Given the description of an element on the screen output the (x, y) to click on. 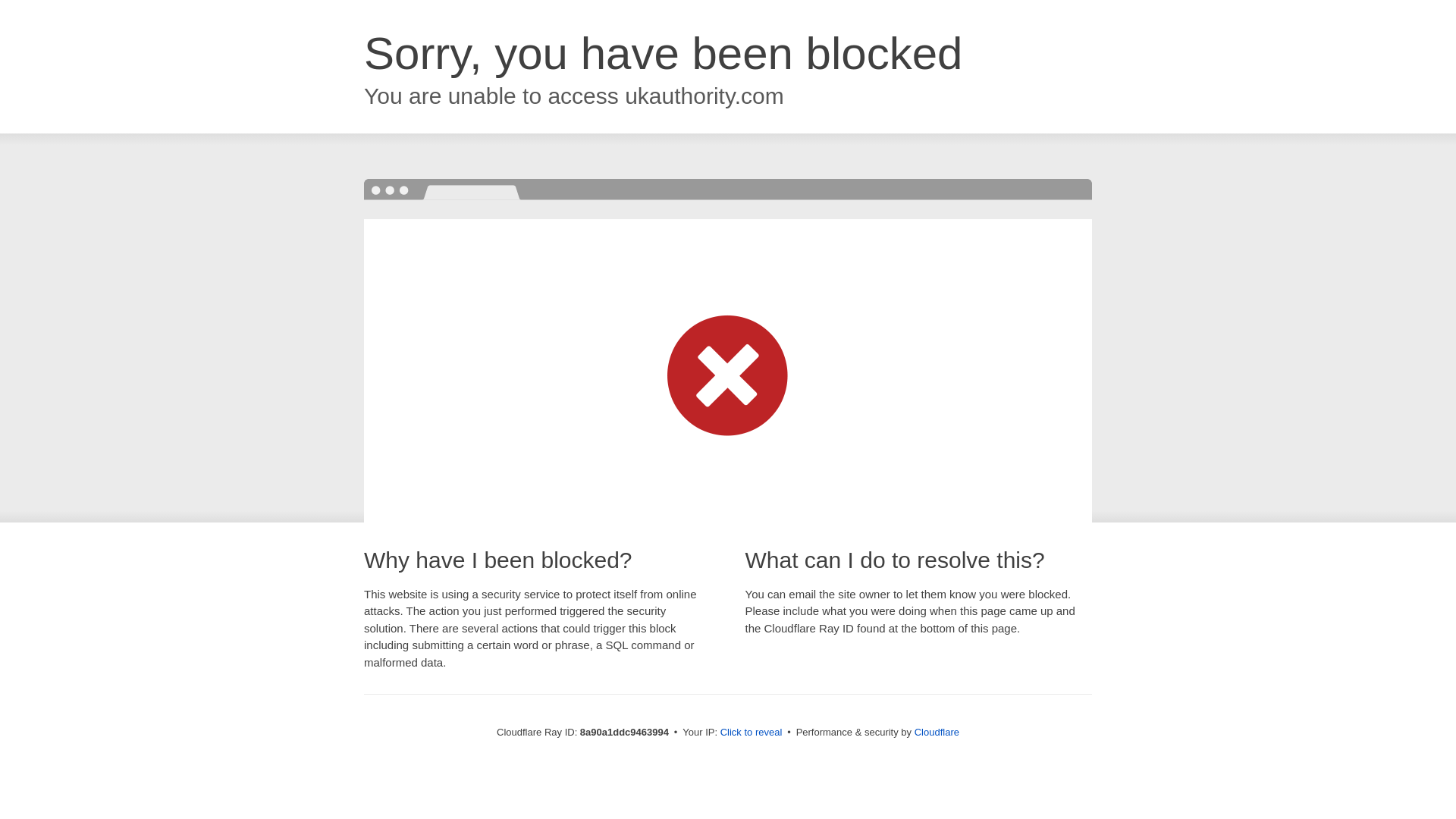
Cloudflare (936, 731)
Click to reveal (751, 732)
